Given the description of an element on the screen output the (x, y) to click on. 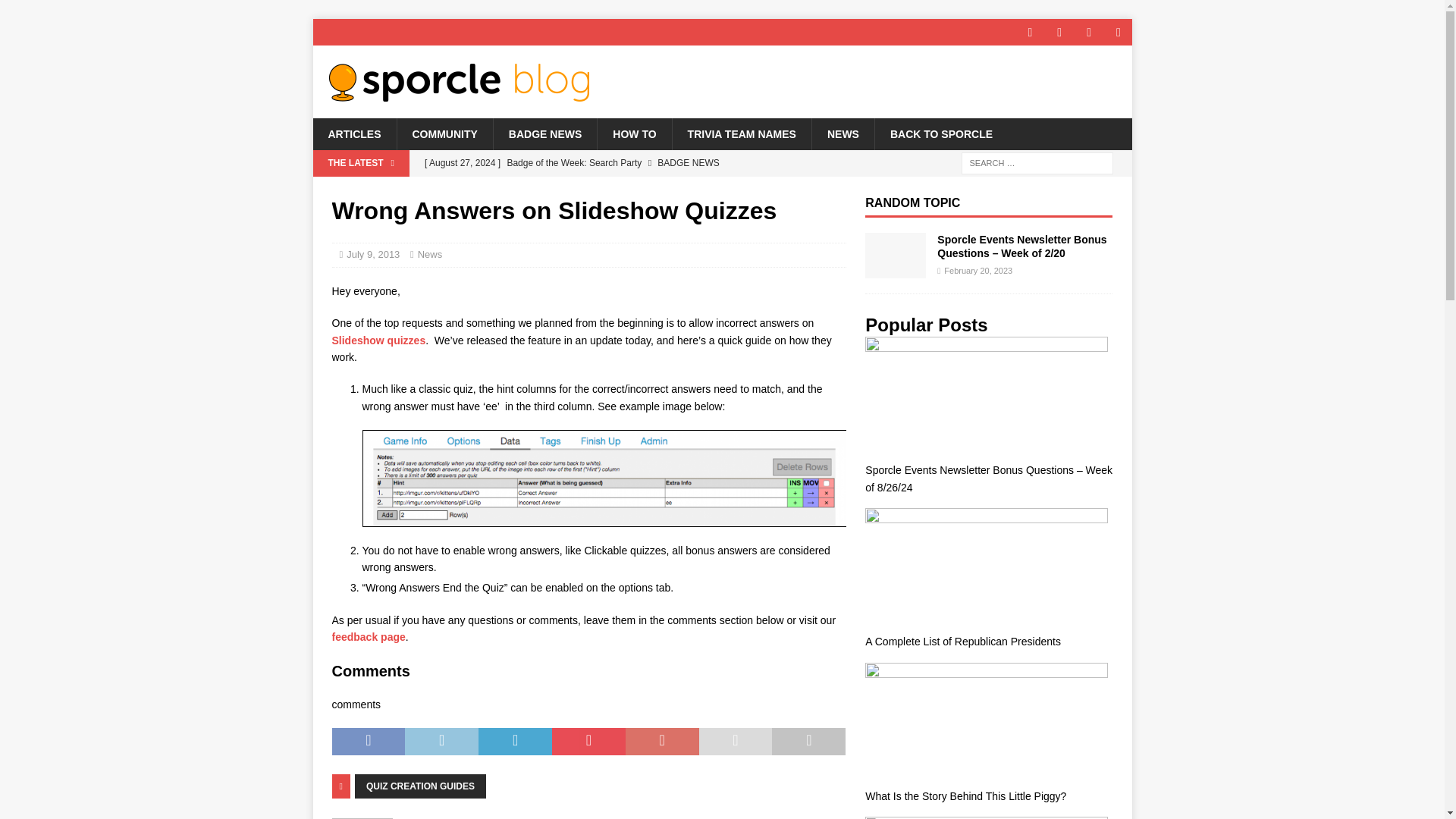
July 9, 2013 (372, 254)
HOW TO (633, 133)
What was the Best Part About SporcleCon? (630, 188)
BACK TO SPORCLE (941, 133)
Slideshow quizzes (378, 340)
feedback page (368, 636)
NEWS (842, 133)
COMMUNITY (444, 133)
Badge of the Week: Search Party (630, 162)
